Given the description of an element on the screen output the (x, y) to click on. 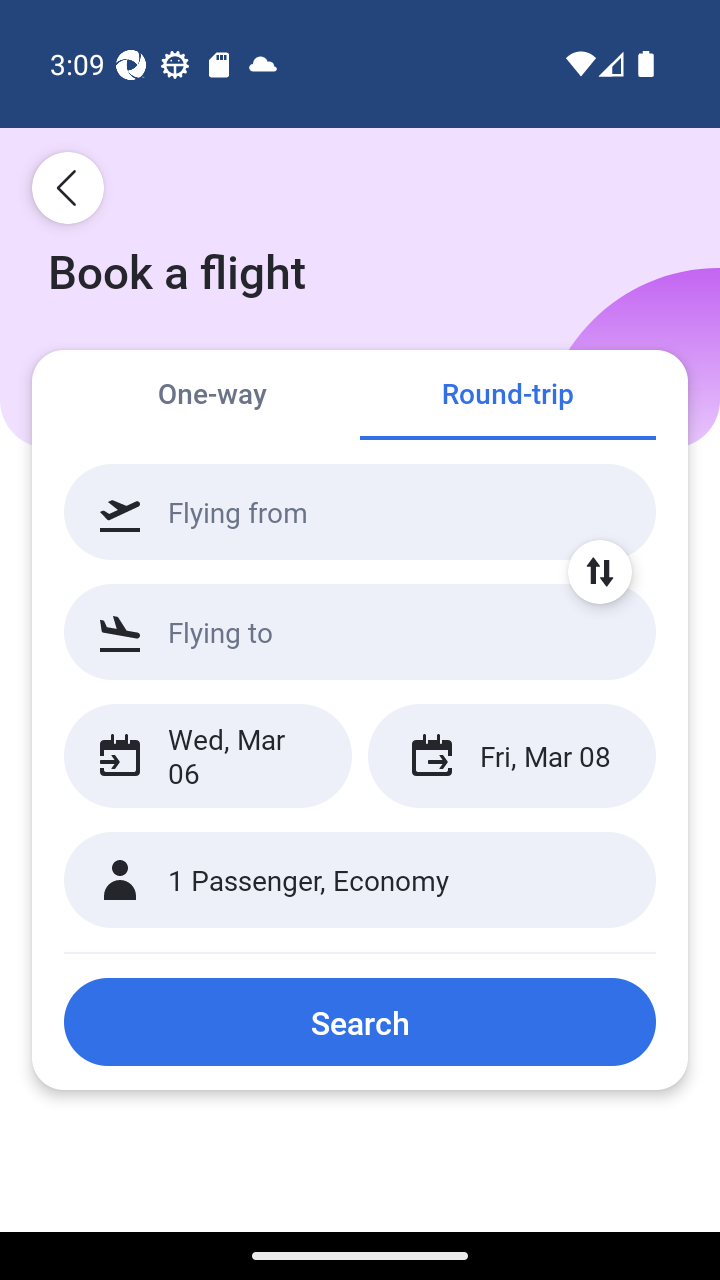
One-way (212, 394)
Flying from (359, 511)
Flying to (359, 631)
Wed, Mar 06 (208, 755)
Fri, Mar 08 (511, 755)
1 Passenger, Economy (359, 880)
Search (359, 1022)
